Given the description of an element on the screen output the (x, y) to click on. 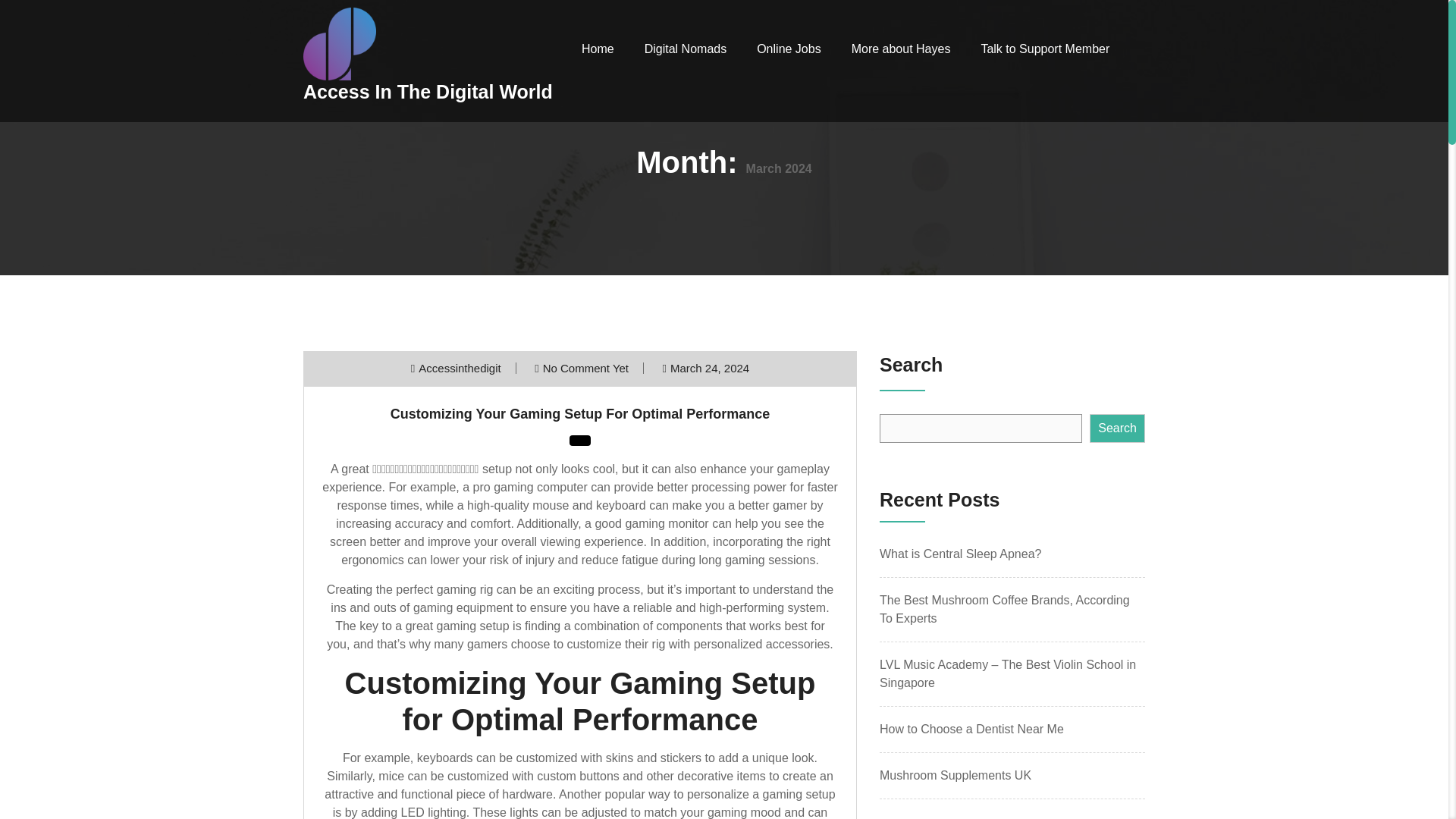
mood and can even change colors with different games (649, 812)
Accessinthedigit (459, 367)
Talk to Support Member (1044, 48)
More about Hayes (900, 48)
March 24, 2024 (709, 367)
Customizing Your Gaming Setup For Optimal Performance (580, 413)
No Comment Yet (585, 367)
Digital Nomads (685, 48)
Online Jobs (789, 48)
Access In The Digital World (439, 113)
